Given the description of an element on the screen output the (x, y) to click on. 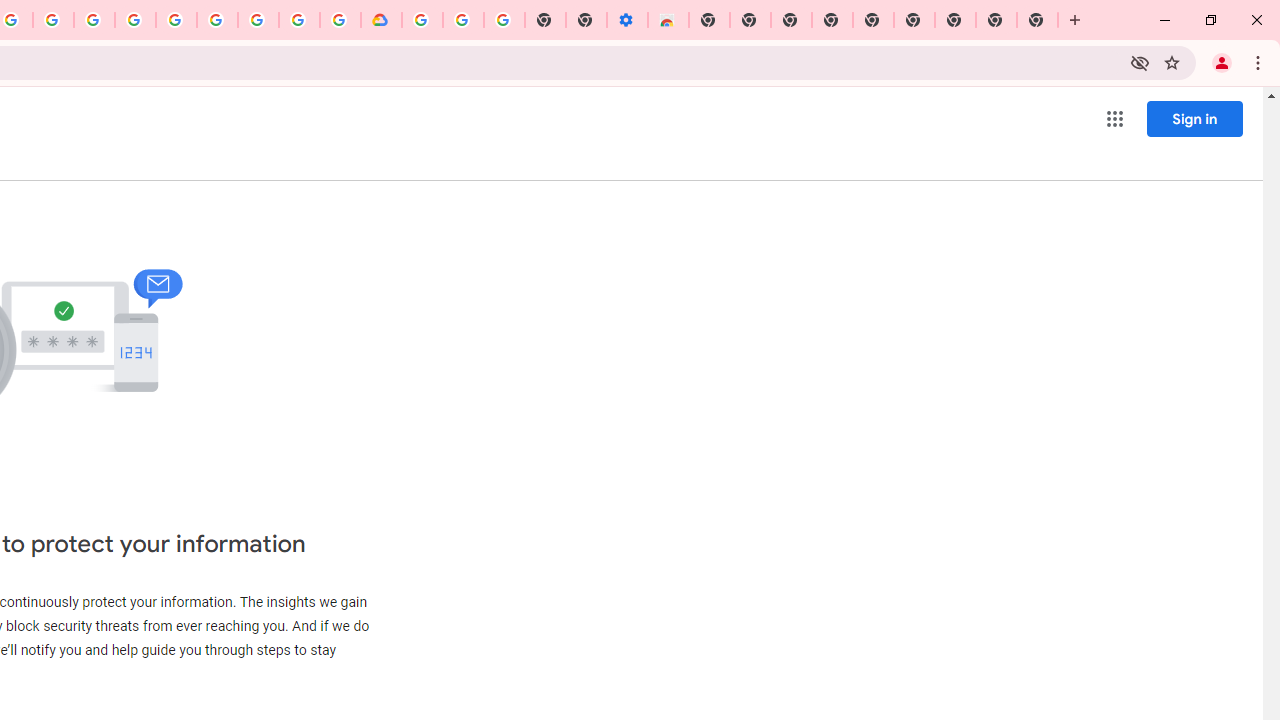
Sign in - Google Accounts (421, 20)
Google Account Help (462, 20)
Create your Google Account (53, 20)
Google Account Help (217, 20)
Ad Settings (135, 20)
